Given the description of an element on the screen output the (x, y) to click on. 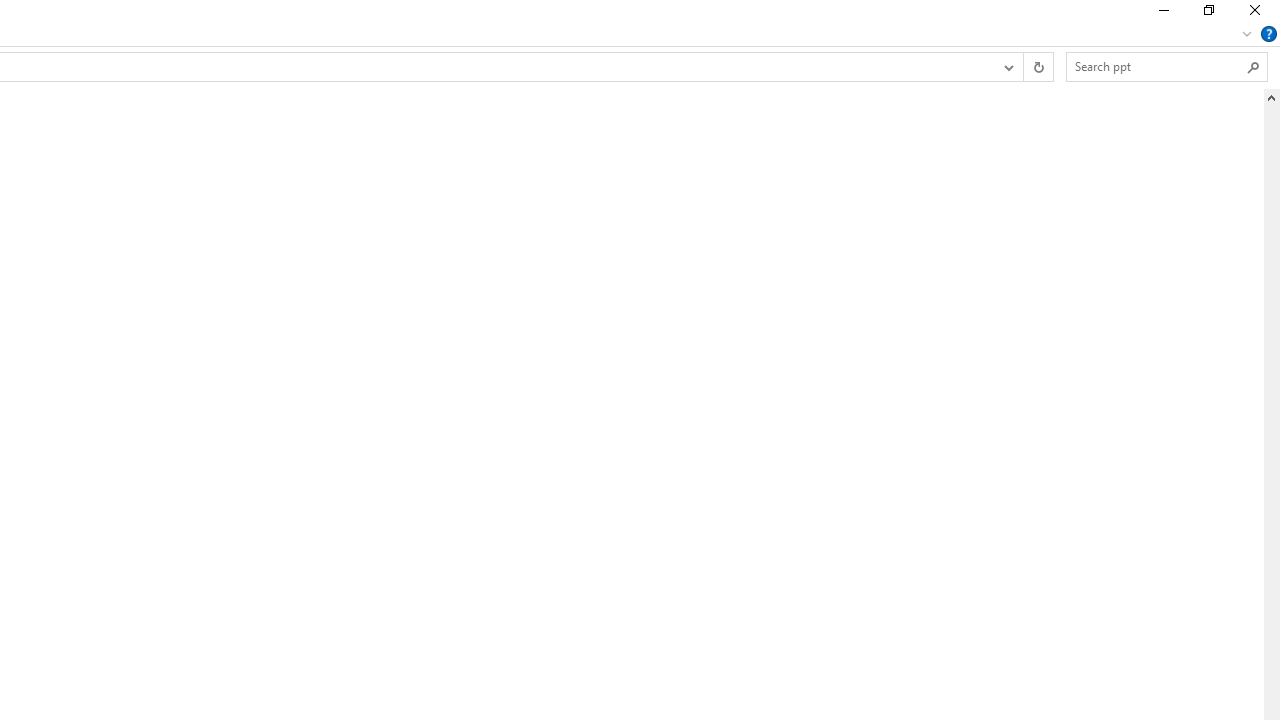
Search Box (1156, 66)
Refresh "ppt" (F5) (1037, 66)
Previous Locations (1007, 66)
Minimize the Ribbon (1247, 33)
Restore (1208, 14)
Address band toolbar (1023, 66)
